Given the description of an element on the screen output the (x, y) to click on. 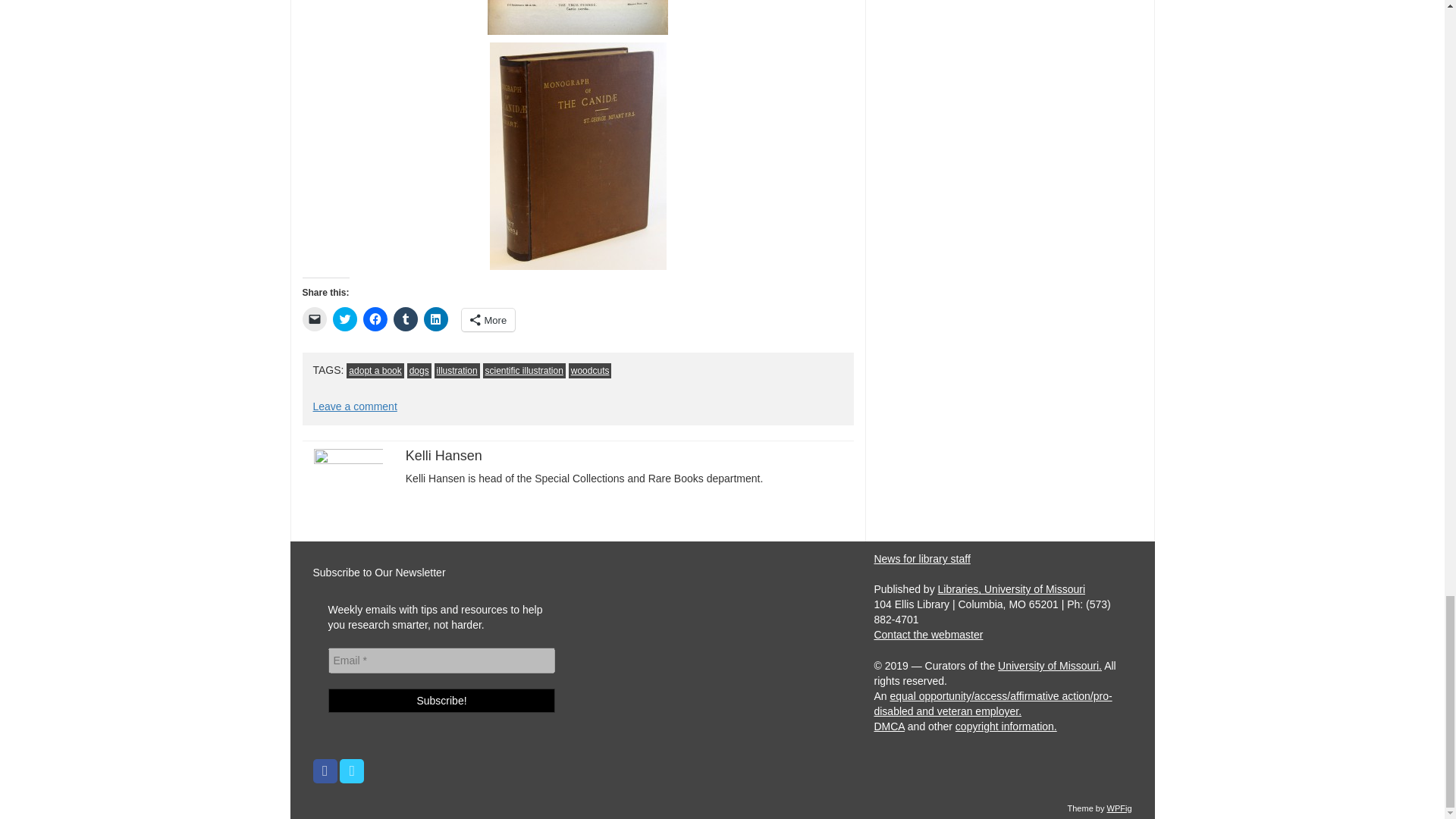
Subscribe! (440, 700)
Click to email a link to a friend (313, 319)
